Given the description of an element on the screen output the (x, y) to click on. 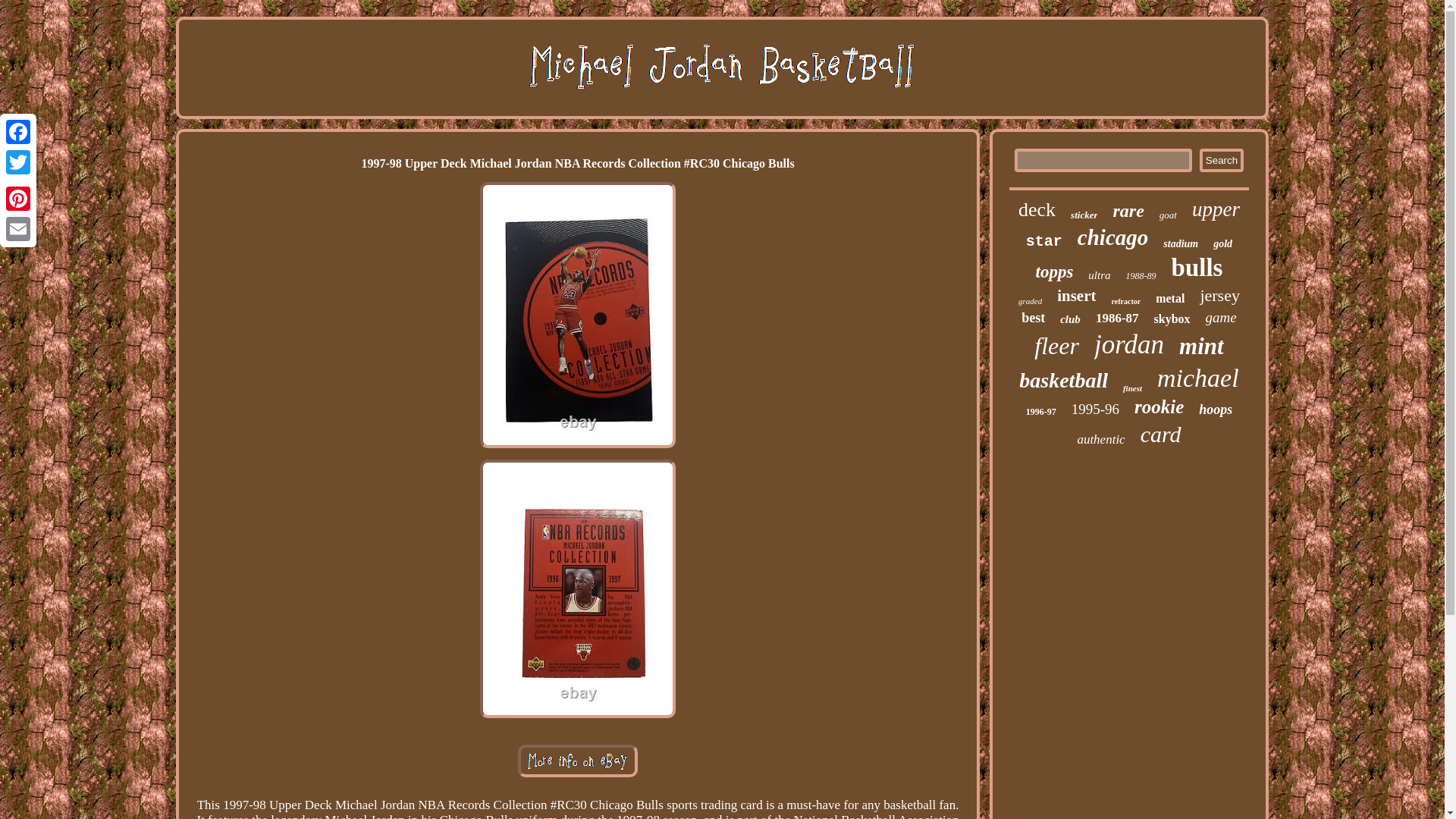
goat (1167, 215)
chicago (1112, 237)
Twitter (17, 162)
metal (1170, 298)
1988-89 (1140, 276)
gold (1221, 244)
topps (1054, 271)
bulls (1197, 267)
Email (17, 228)
Search (1221, 159)
club (1069, 318)
graded (1029, 300)
sticker (1083, 215)
Facebook (17, 132)
upper (1216, 209)
